Given the description of an element on the screen output the (x, y) to click on. 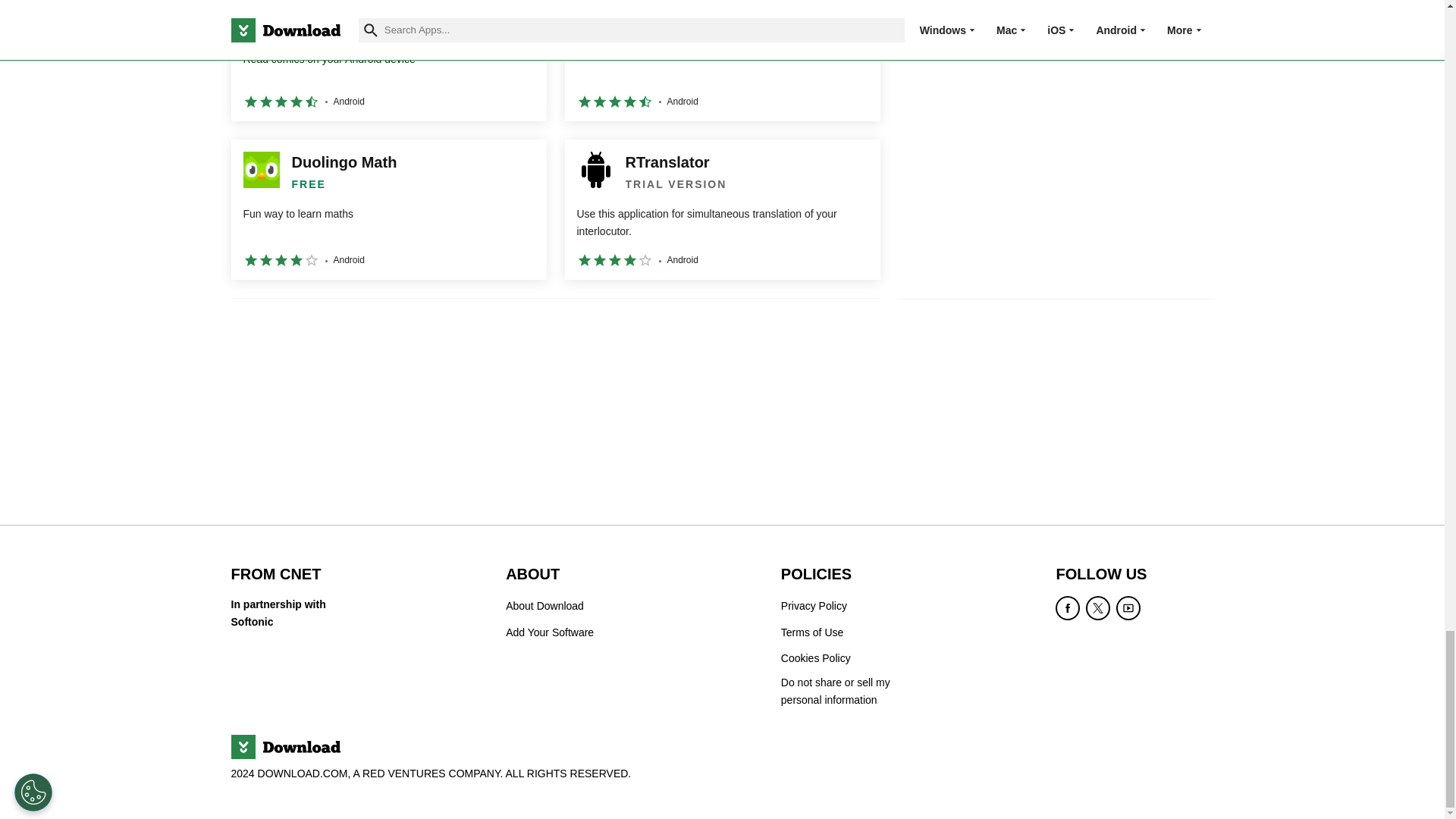
Mobile HMS (721, 60)
JMComic2 (388, 60)
Duolingo Math (388, 209)
Download.com (284, 746)
Become a Facebook fan of Download.com (1067, 607)
RTranslator (721, 209)
